Given the description of an element on the screen output the (x, y) to click on. 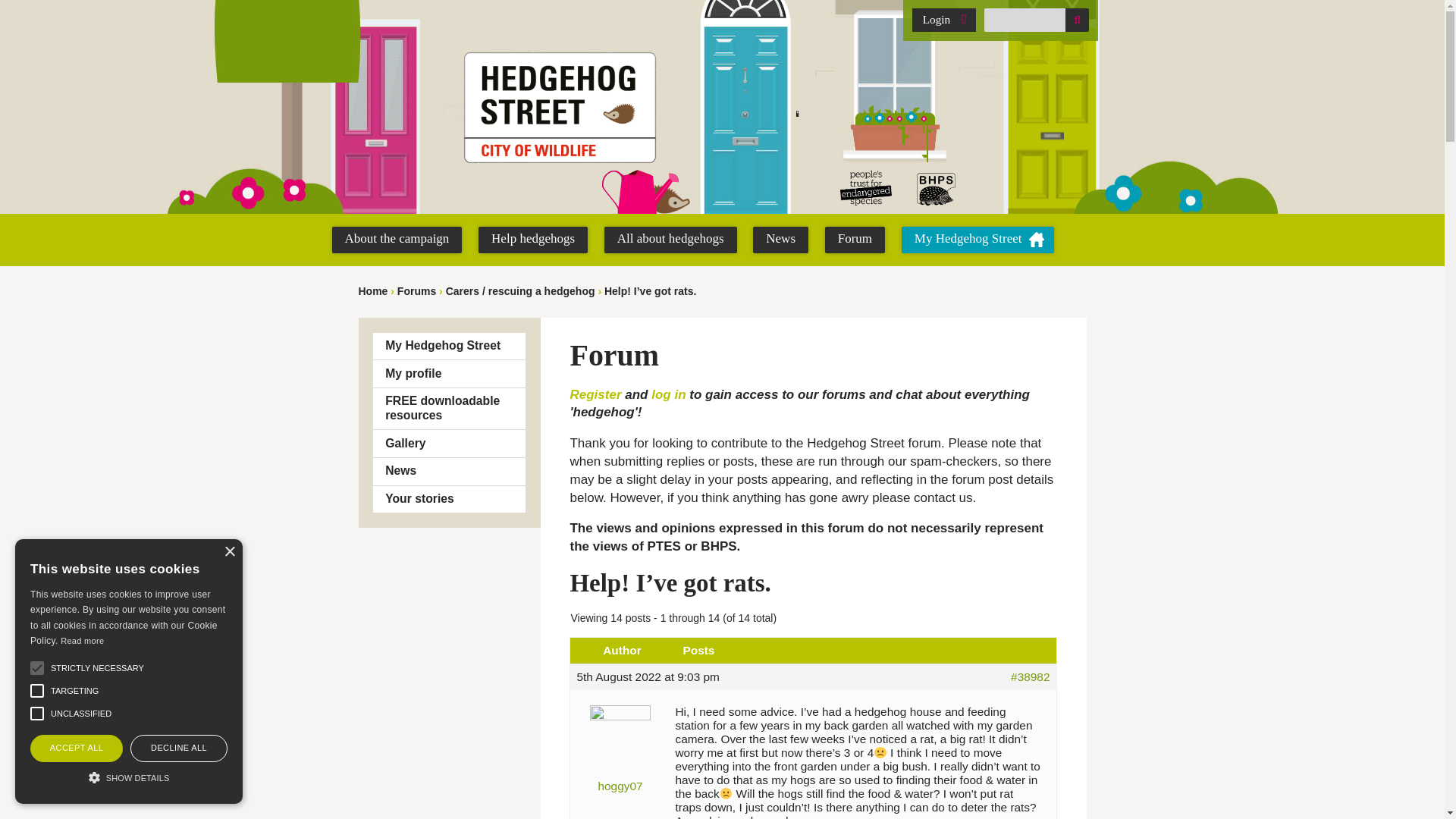
News (780, 239)
Login (943, 19)
All about hedgehogs (670, 239)
Peoples Trust for Endangered Species (865, 188)
View hoggy07's profile (619, 744)
About the campaign (397, 239)
Forums (416, 291)
Help hedgehogs (533, 239)
Home (372, 291)
Forum (855, 239)
My Hedgehog Street (977, 239)
British Hedgehog Preservation Society (936, 188)
